Given the description of an element on the screen output the (x, y) to click on. 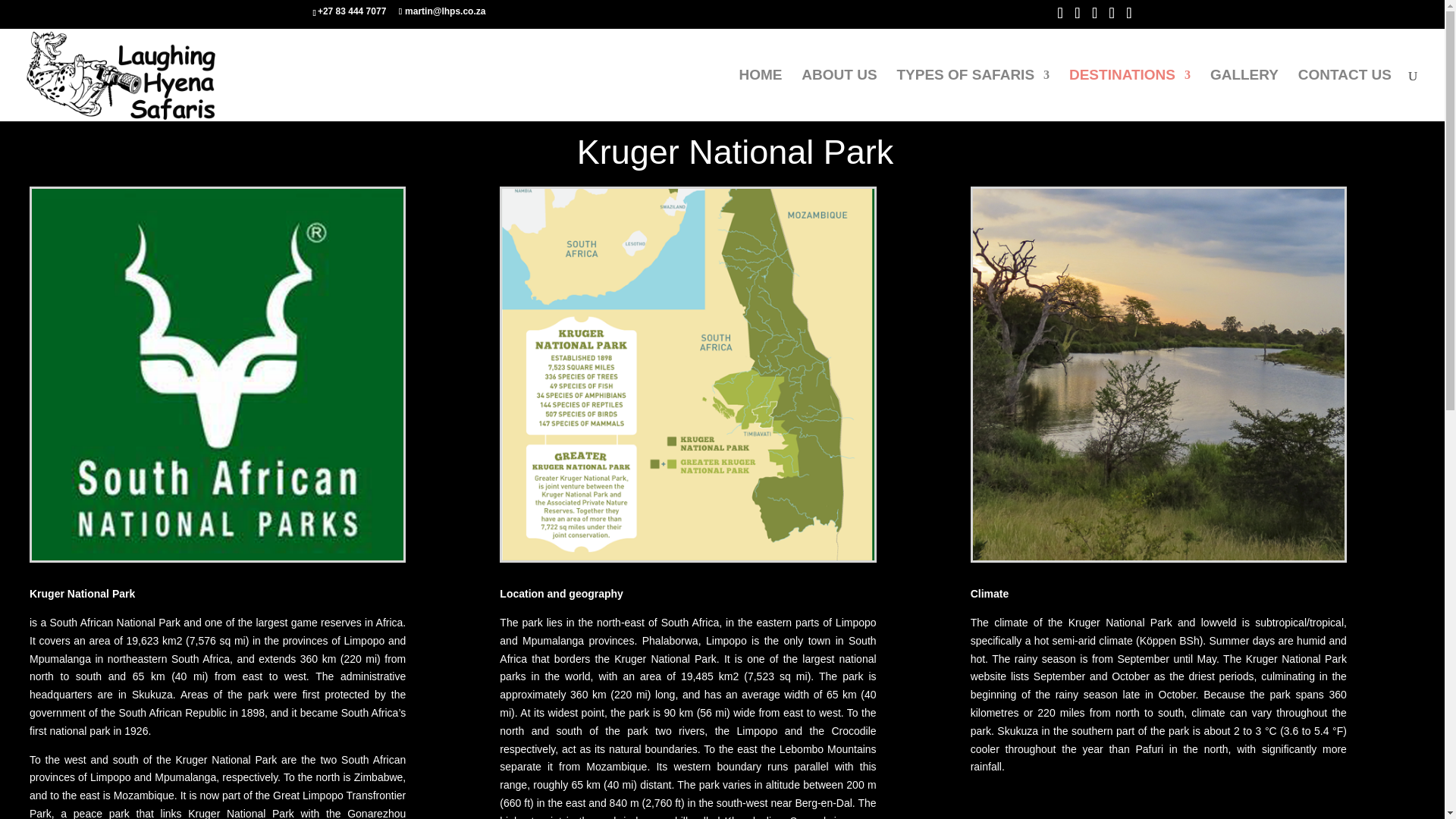
CONTACT US (1344, 95)
DESTINATIONS (1129, 95)
TYPES OF SAFARIS (972, 95)
ABOUT US (839, 95)
HOME (759, 95)
GALLERY (1243, 95)
